Given the description of an element on the screen output the (x, y) to click on. 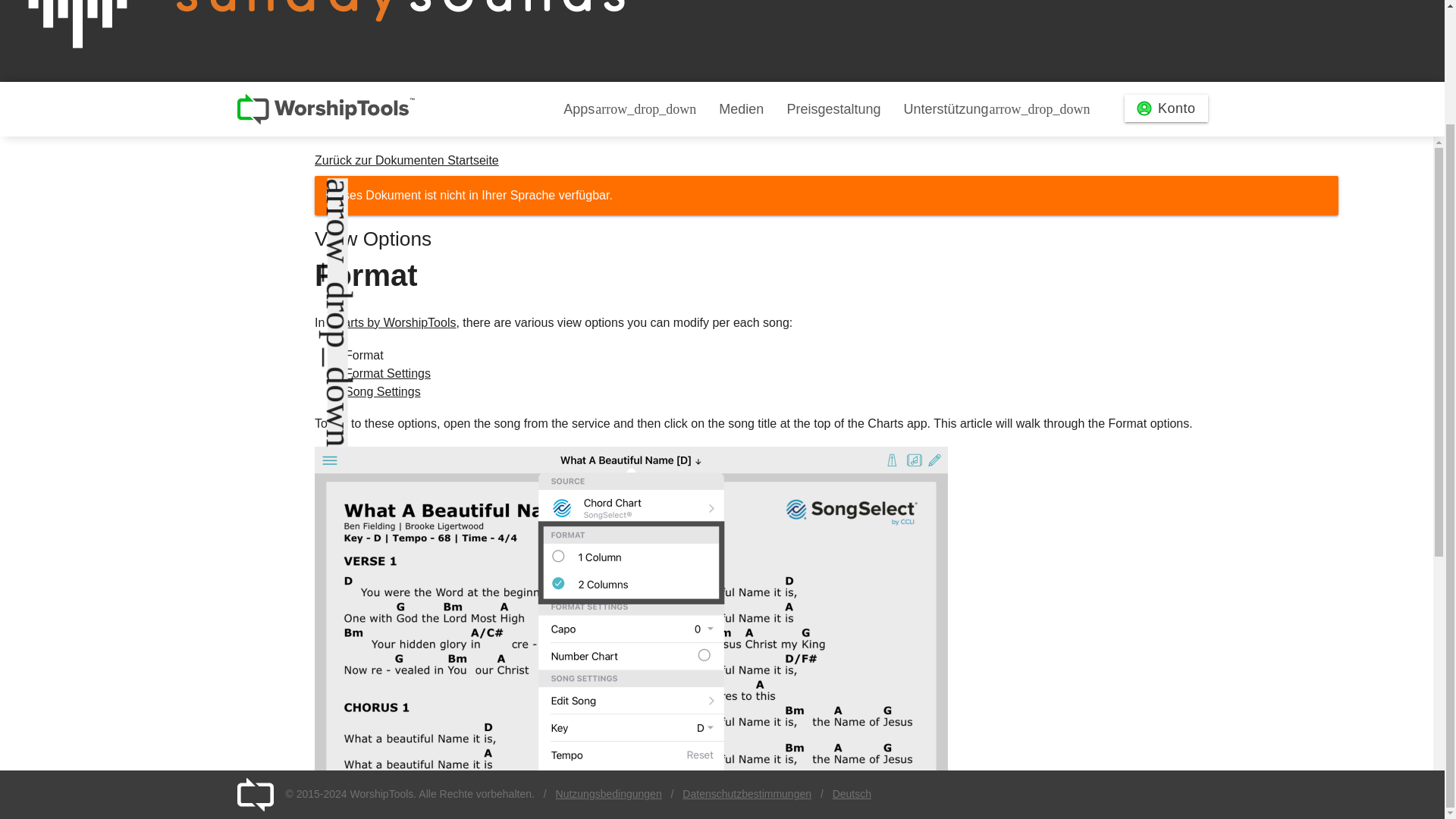
Preisgestaltung (832, 109)
Konto (1166, 108)
Medien (740, 109)
